Given the description of an element on the screen output the (x, y) to click on. 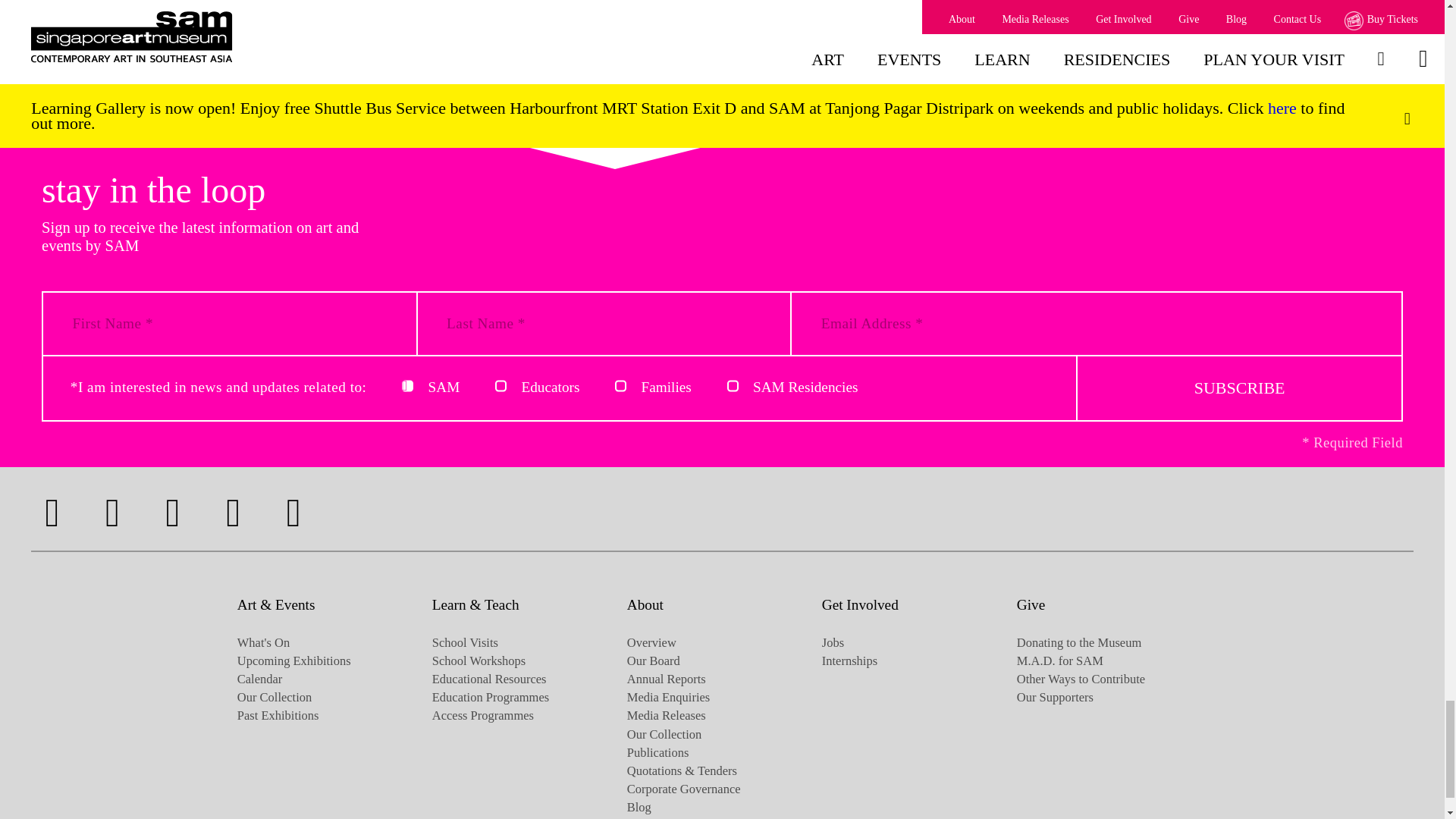
Instagram (111, 512)
Subscribe (1238, 387)
Facebook (52, 512)
